Given the description of an element on the screen output the (x, y) to click on. 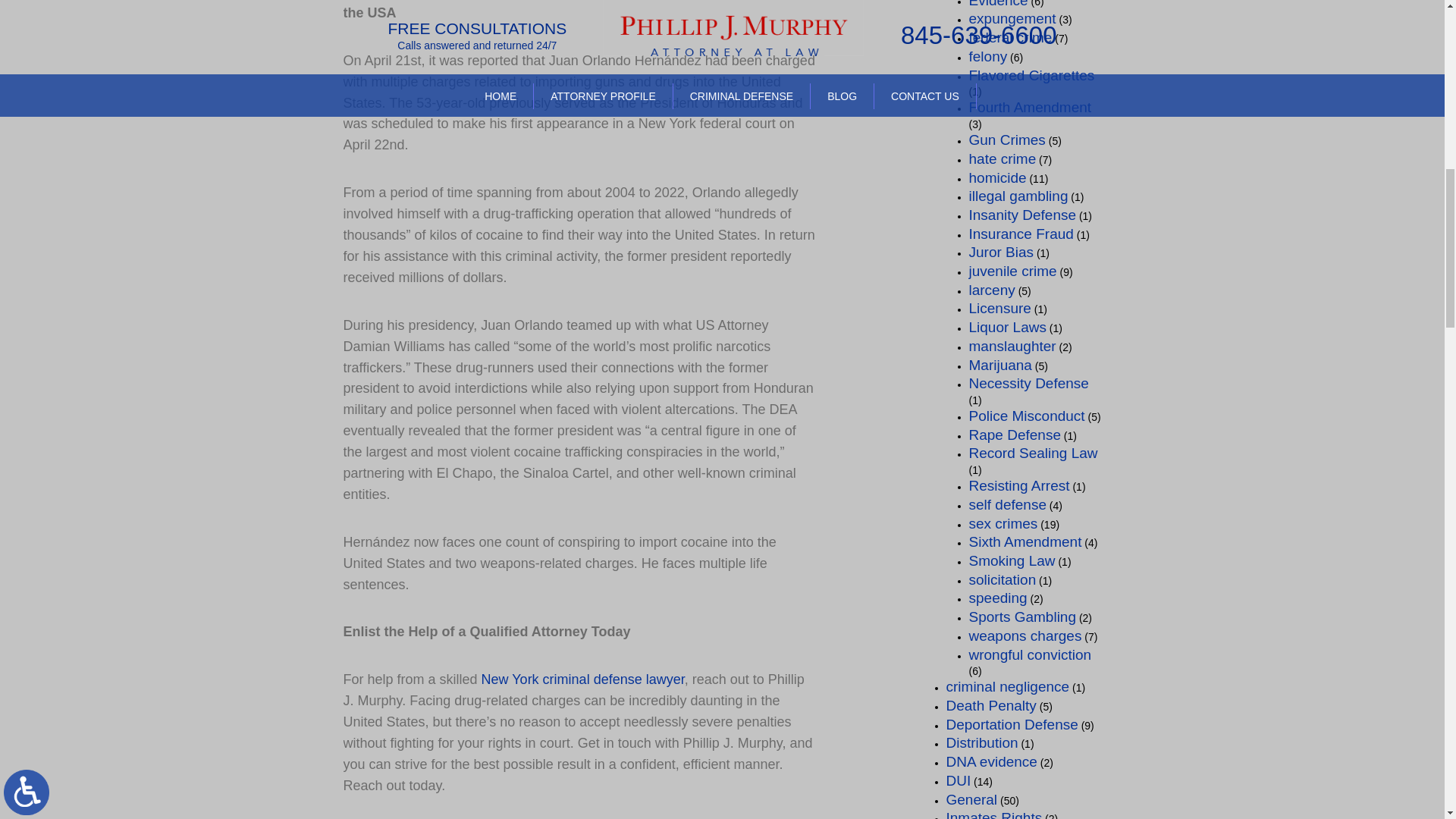
New York criminal defense lawyer (582, 679)
